Given the description of an element on the screen output the (x, y) to click on. 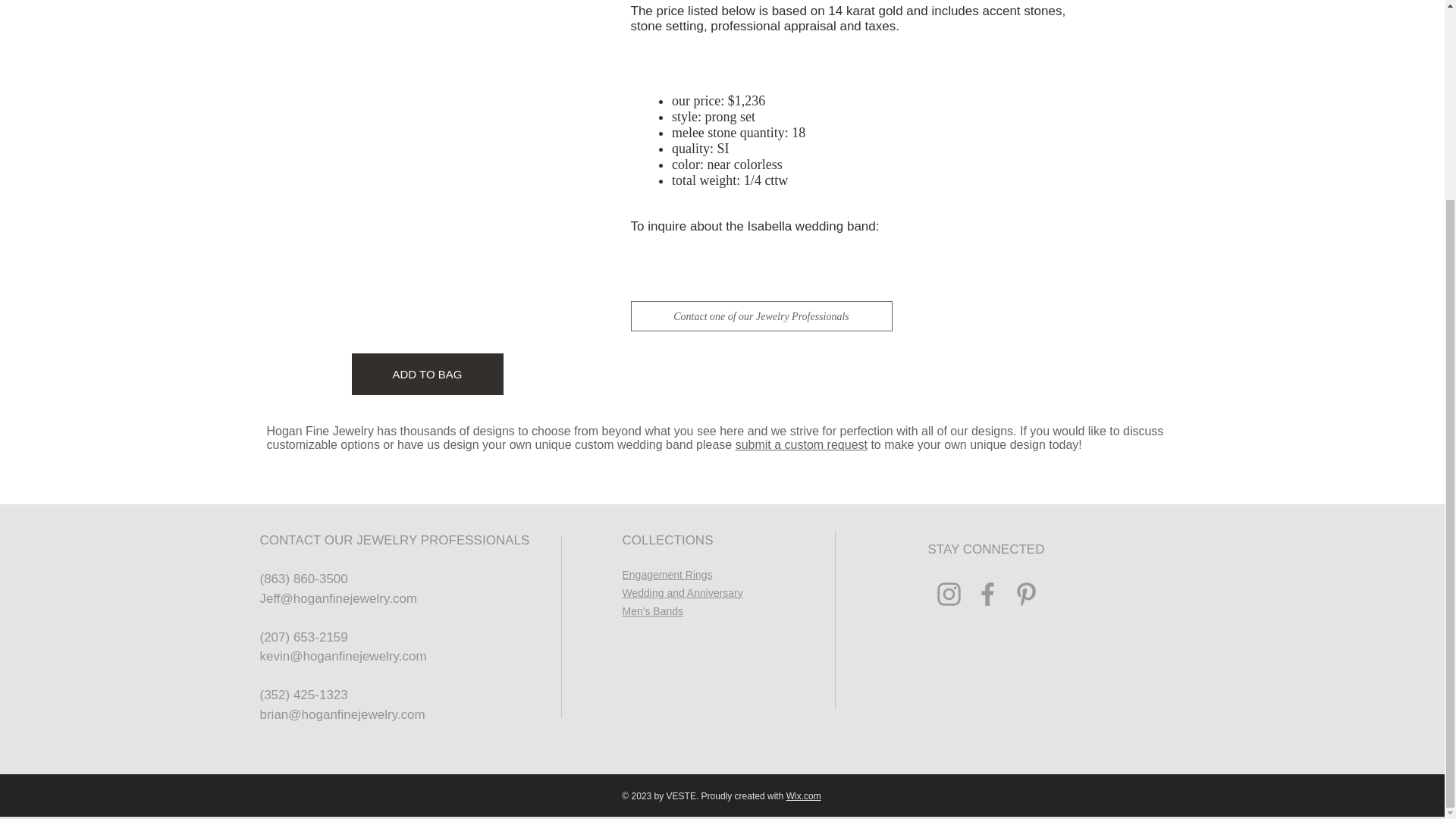
Contact one of our Jewelry Professionals (761, 316)
ADD TO BAG (427, 373)
Wix.com (803, 796)
Wedding and Anniversary (681, 592)
Engagement Rings (666, 574)
Men's Bands (651, 611)
submit a custom request (801, 444)
